Given the description of an element on the screen output the (x, y) to click on. 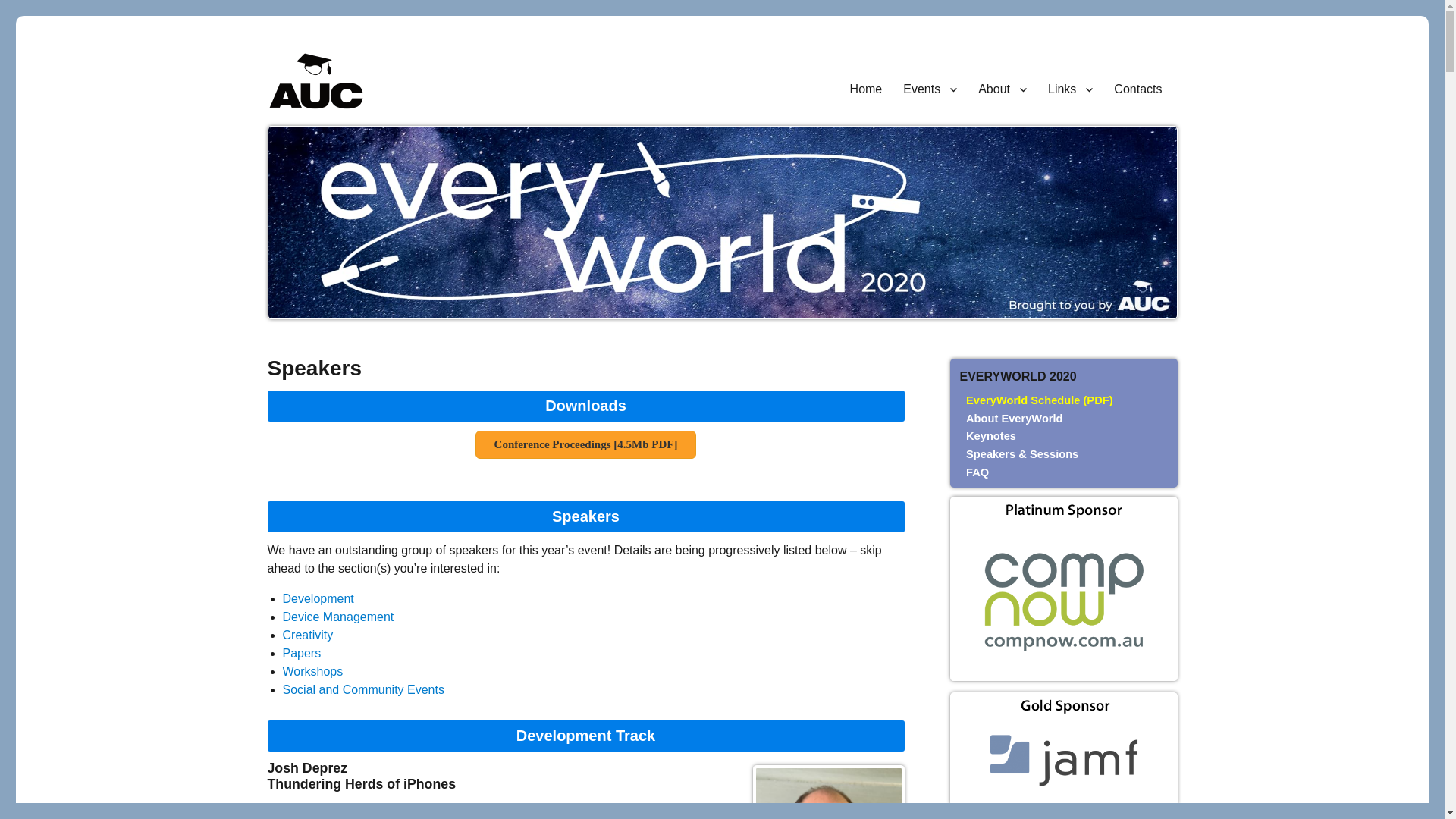
Contacts Element type: text (1137, 88)
EveryWorld Schedule (PDF) Element type: text (1062, 401)
AUC Element type: text (289, 122)
Development Element type: text (317, 598)
Papers Element type: text (301, 652)
Social and Community Events Element type: text (362, 689)
Speakers & Sessions Element type: text (1022, 454)
Links Element type: text (1070, 88)
Keynotes Element type: text (991, 435)
Events Element type: text (929, 88)
Home Element type: text (866, 88)
AUC Logo Element type: hover (315, 80)
About Element type: text (1002, 88)
Device Management Element type: text (337, 616)
Conference Proceedings [4.5Mb PDF] Element type: text (585, 444)
FAQ Element type: text (977, 472)
About EveryWorld Element type: text (1014, 418)
Creativity Element type: text (307, 634)
Workshops Element type: text (312, 671)
